Given the description of an element on the screen output the (x, y) to click on. 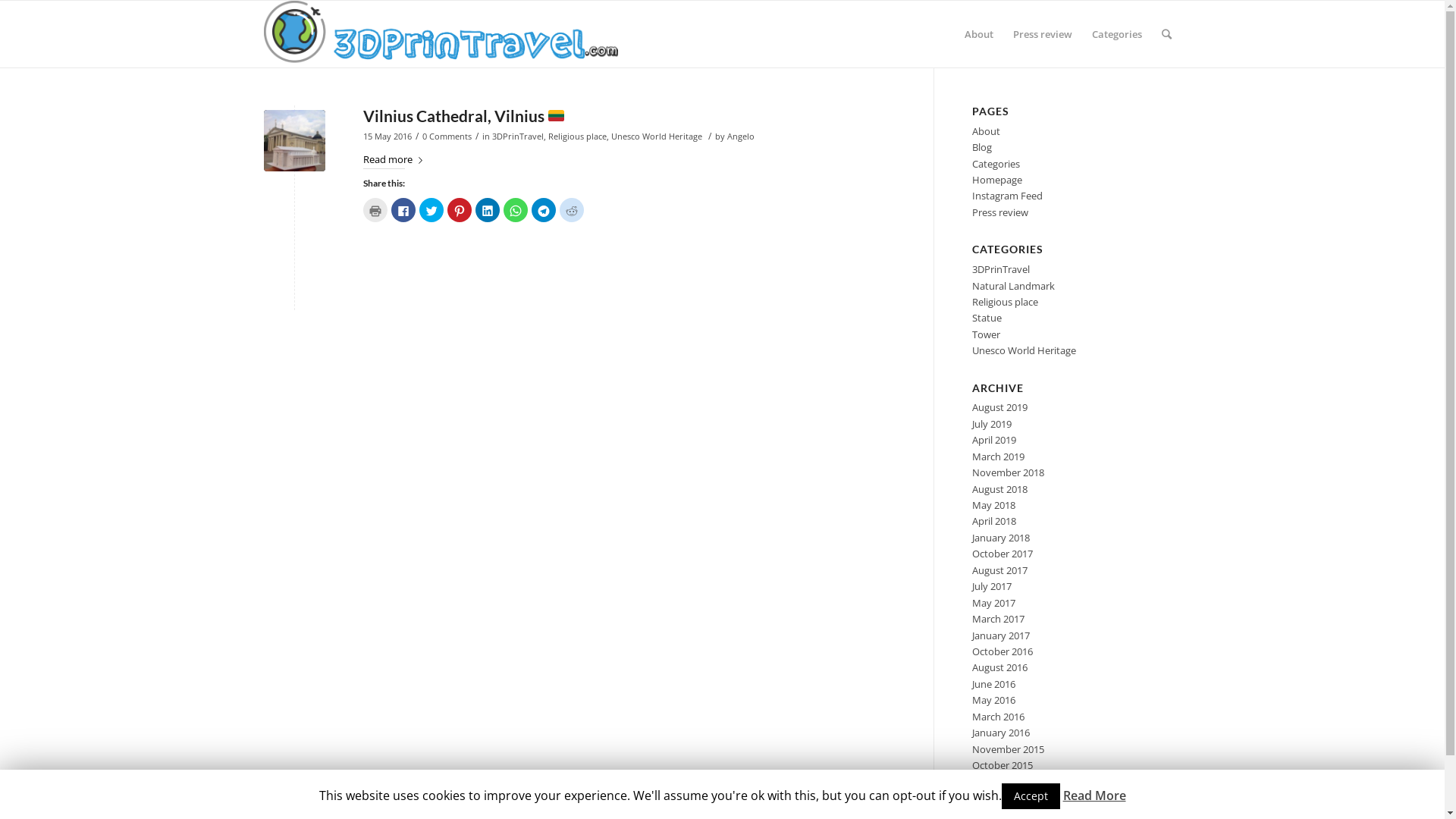
November 2015 Element type: text (1008, 749)
August 2015 Element type: text (999, 797)
November 2018 Element type: text (1008, 472)
About Element type: text (977, 33)
March 2019 Element type: text (998, 456)
About Element type: text (986, 131)
Homepage Element type: text (997, 179)
3DPrinTravel Element type: text (1000, 269)
Press review Element type: text (1000, 212)
Vilnius Cathedral, Vilnius  Element type: text (463, 115)
Click to share on WhatsApp (Opens in new window) Element type: text (515, 209)
Instagram Feed Element type: text (1007, 195)
Categories Element type: text (1116, 33)
July 2017 Element type: text (991, 586)
January 2017 Element type: text (1000, 635)
Statue Element type: text (986, 317)
March 2016 Element type: text (998, 716)
Click to share on LinkedIn (Opens in new window) Element type: text (486, 209)
October 2017 Element type: text (1002, 553)
September 2015 Element type: text (1008, 780)
Read More Element type: text (1094, 795)
Click to print (Opens in new window) Element type: text (374, 209)
Angelo Element type: text (739, 136)
April 2019 Element type: text (994, 439)
Tower Element type: text (986, 334)
October 2016 Element type: text (1002, 651)
August 2019 Element type: text (999, 407)
Religious place Element type: text (576, 136)
August 2016 Element type: text (999, 667)
August 2017 Element type: text (999, 570)
July 2019 Element type: text (991, 423)
June 2016 Element type: text (993, 683)
January 2016 Element type: text (1000, 732)
Accept Element type: text (1030, 796)
Click to share on Telegram (Opens in new window) Element type: text (542, 209)
Unesco World Heritage Element type: text (1024, 350)
April 2018 Element type: text (994, 520)
Categories Element type: text (995, 163)
Press review Element type: text (1041, 33)
Click to share on Facebook (Opens in new window) Element type: text (403, 209)
Natural Landmark Element type: text (1013, 285)
May 2017 Element type: text (993, 602)
May 2018 Element type: text (993, 504)
Unesco World Heritage Element type: text (656, 136)
Blog Element type: text (981, 146)
August 2018 Element type: text (999, 488)
October 2015 Element type: text (1002, 764)
March 2017 Element type: text (998, 618)
May 2016 Element type: text (993, 699)
Religious place Element type: text (1005, 301)
January 2018 Element type: text (1000, 537)
Click to share on Twitter (Opens in new window) Element type: text (430, 209)
0 Comments Element type: text (445, 136)
Click to share on Pinterest (Opens in new window) Element type: text (459, 209)
3DPrinTravel Element type: text (516, 136)
Click to share on Reddit (Opens in new window) Element type: text (571, 209)
Read more Element type: text (394, 159)
